Given the description of an element on the screen output the (x, y) to click on. 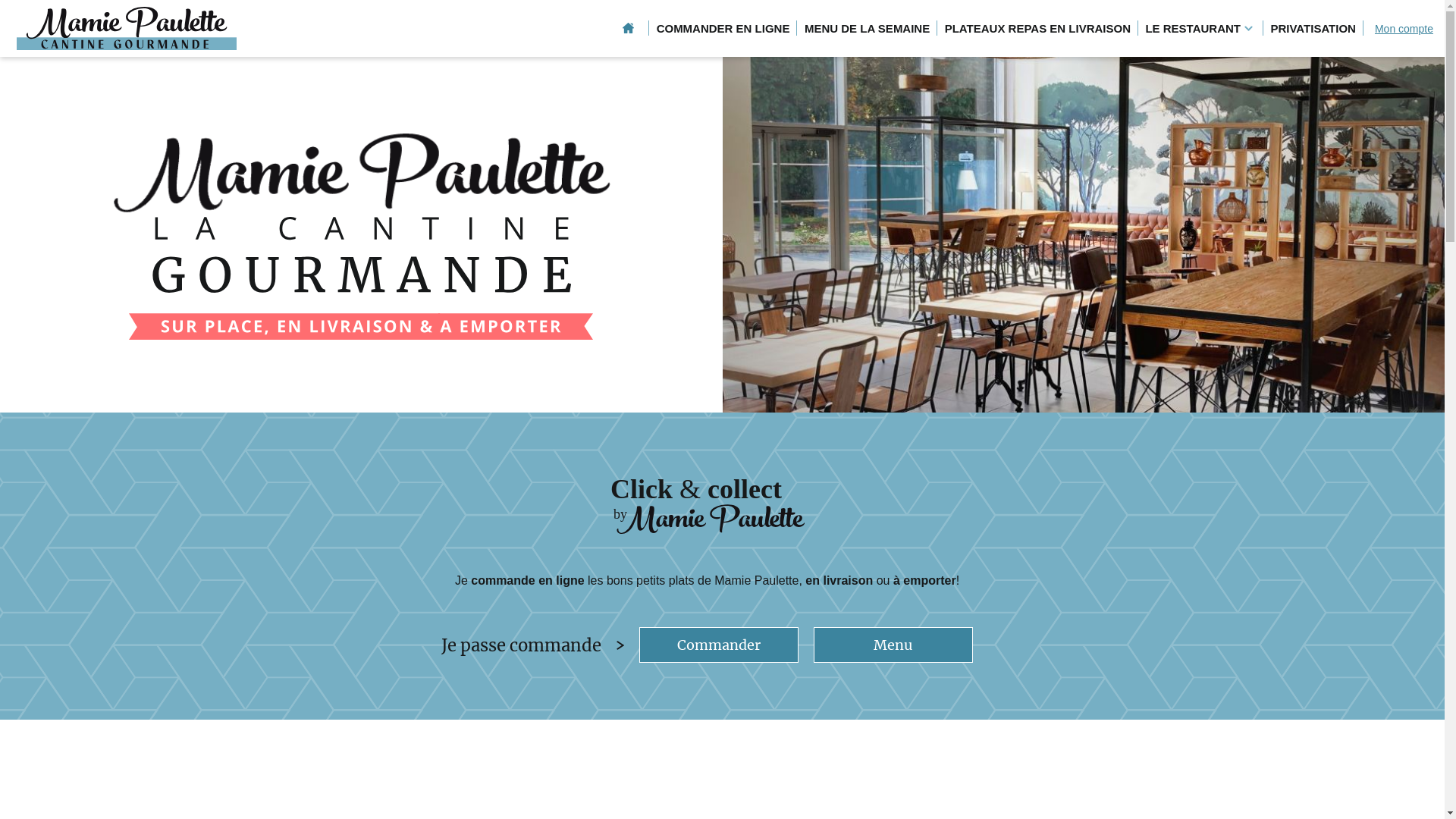
MENU DE LA SEMAINE Element type: text (866, 28)
LE RESTAURANT Element type: text (1200, 28)
Commander Element type: text (718, 644)
PRIVATISATION Element type: text (1312, 28)
Menu Element type: text (892, 644)
COMMANDER EN LIGNE Element type: text (722, 28)
PLATEAUX REPAS EN LIVRAISON Element type: text (1037, 28)
ACCUEIL Element type: text (628, 28)
Mon compte Element type: text (1403, 28)
